Given the description of an element on the screen output the (x, y) to click on. 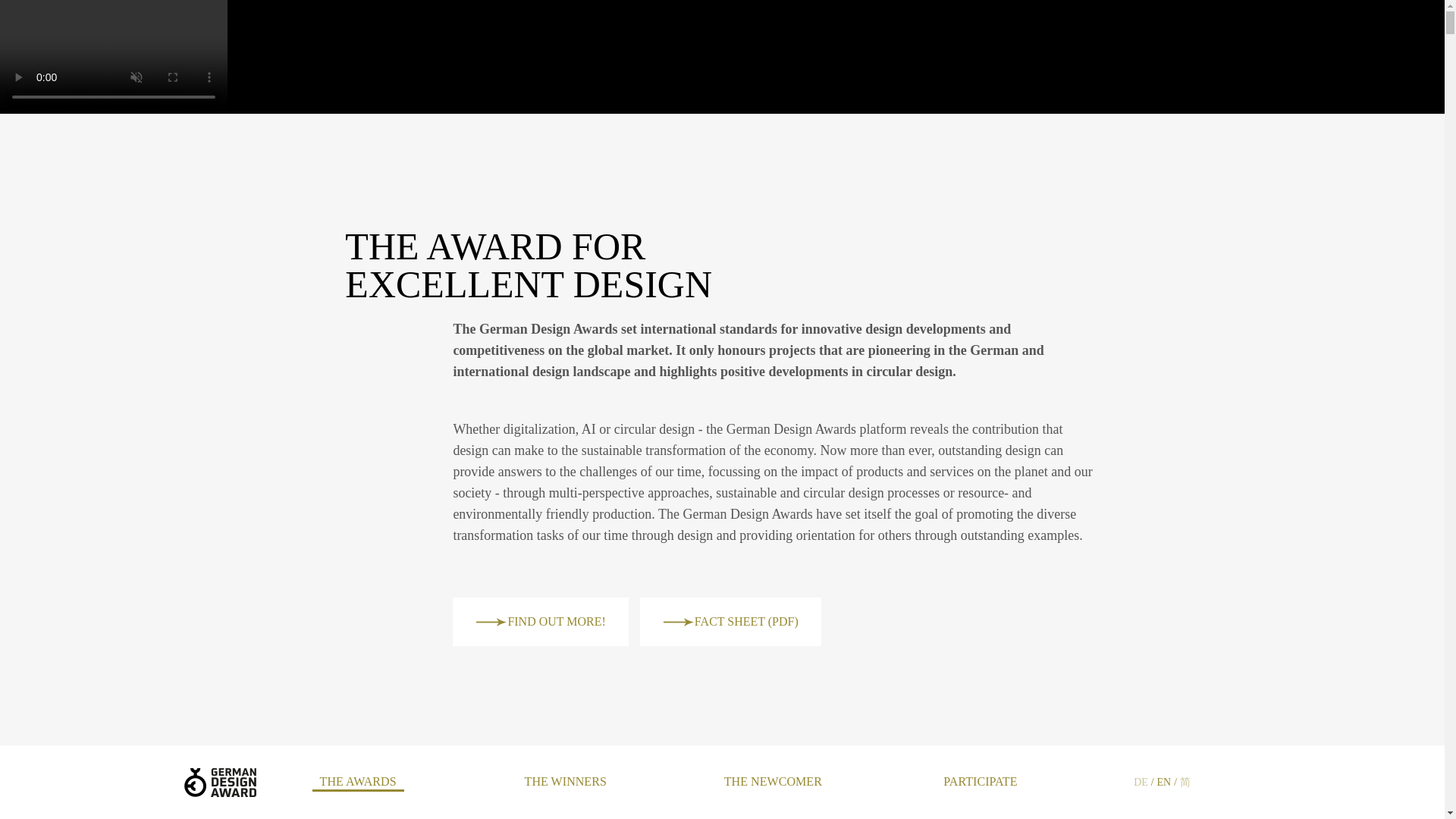
DE (1141, 782)
The Awards (358, 782)
PARTICIPATE (980, 781)
The winners (565, 781)
Participate (980, 781)
FIND OUT MORE! (539, 621)
THE WINNERS (565, 781)
The Newcomer (772, 781)
EN (1164, 782)
THE AWARDS (358, 782)
THE NEWCOMER (772, 781)
